Given the description of an element on the screen output the (x, y) to click on. 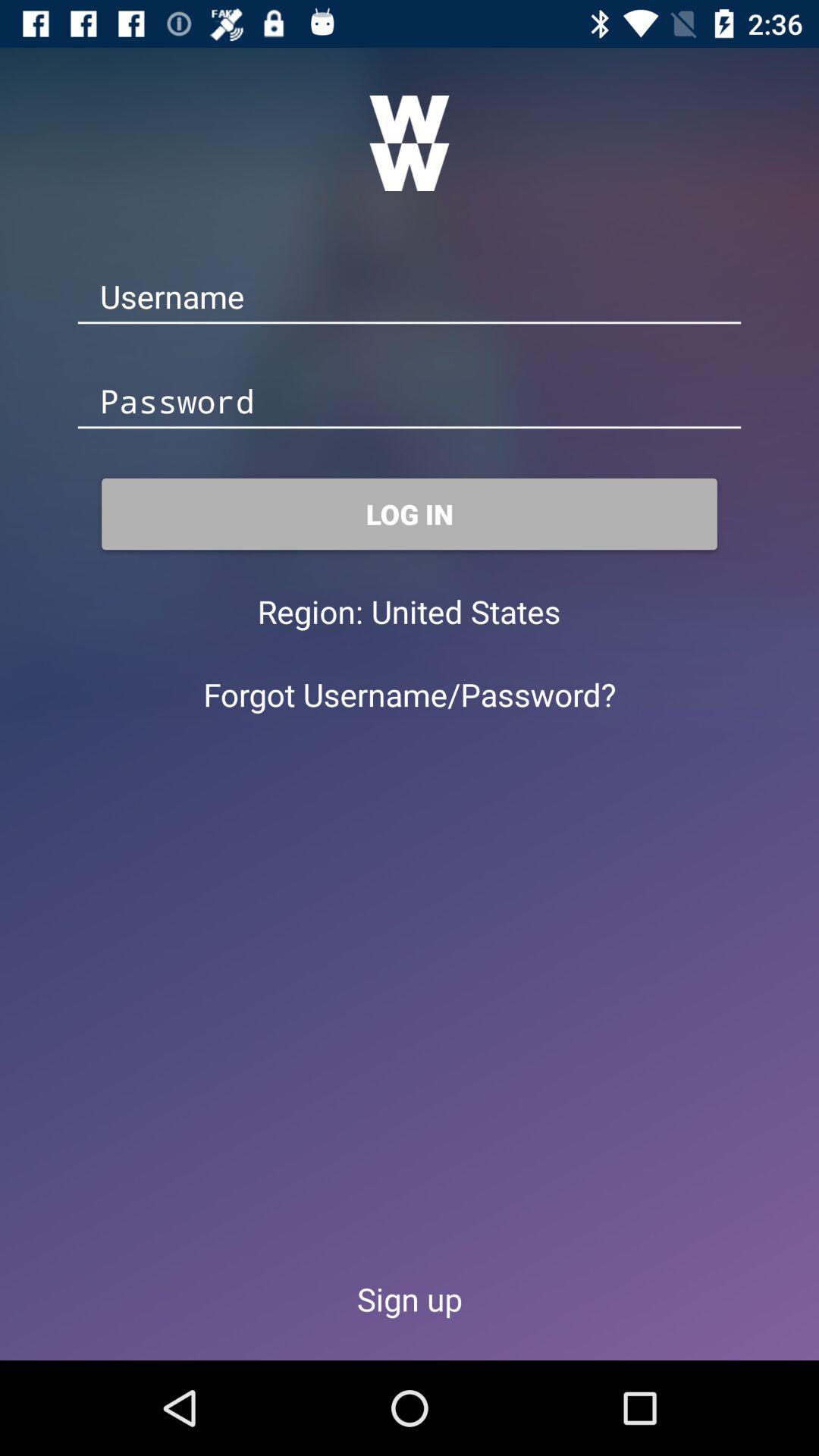
turn off the icon to the right of the region:  icon (465, 611)
